Given the description of an element on the screen output the (x, y) to click on. 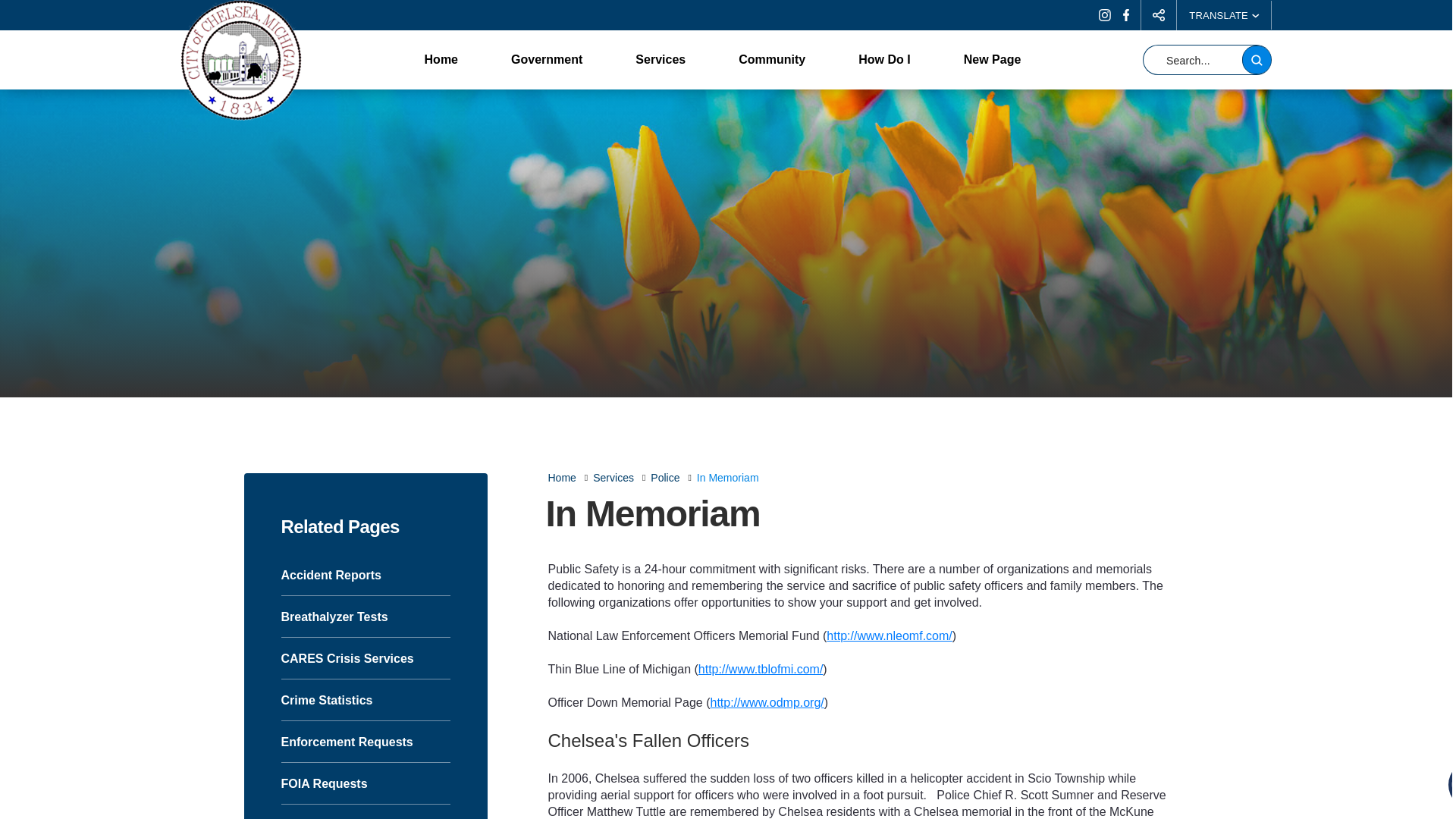
TRANSLATE (1224, 15)
